Given the description of an element on the screen output the (x, y) to click on. 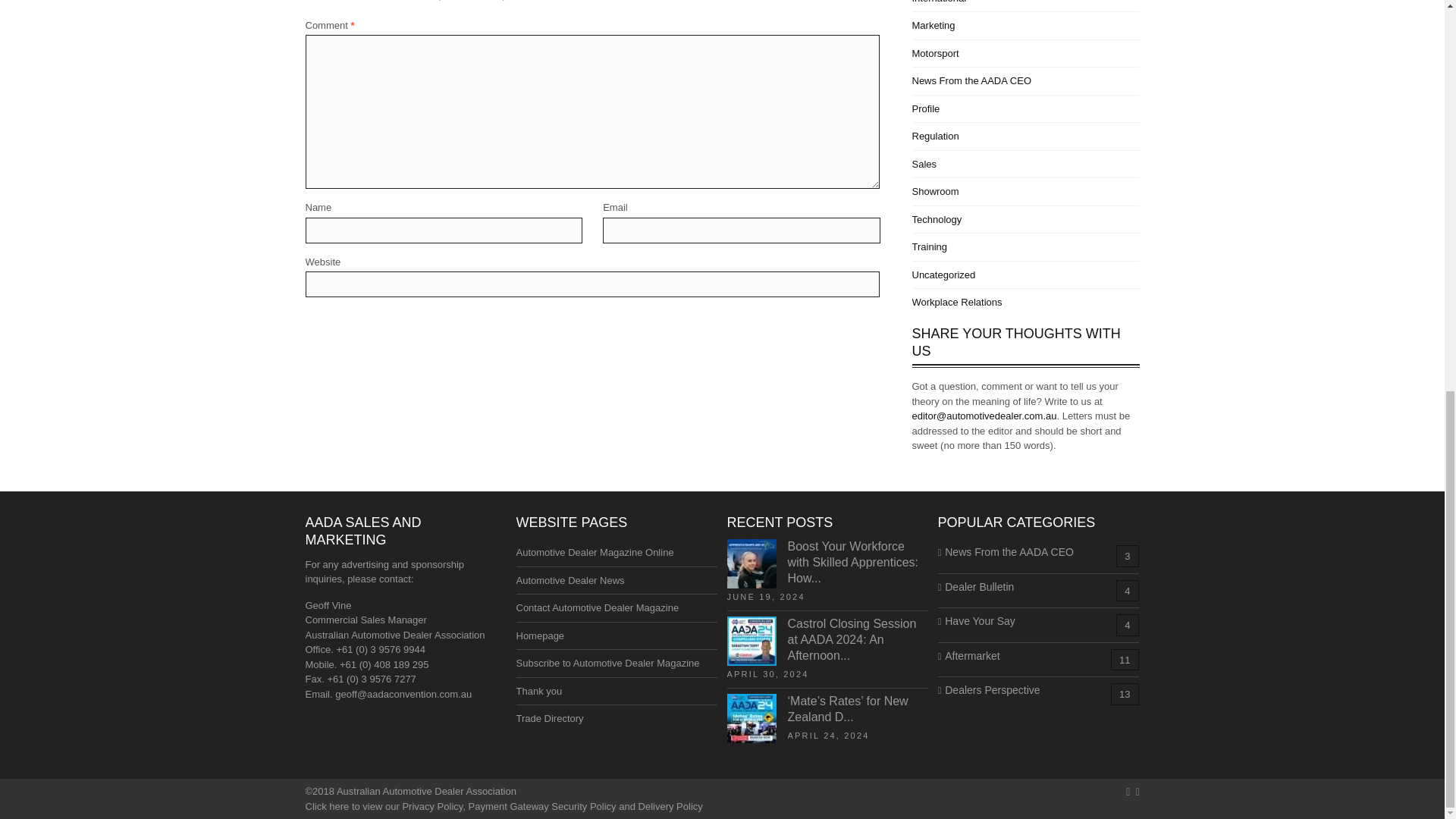
Training (928, 246)
Post Comment (346, 325)
Technology (935, 219)
Sales (923, 163)
Regulation (934, 135)
Profile (925, 108)
Marketing (933, 25)
Showroom (934, 191)
Post Comment (346, 325)
International (938, 2)
